Given the description of an element on the screen output the (x, y) to click on. 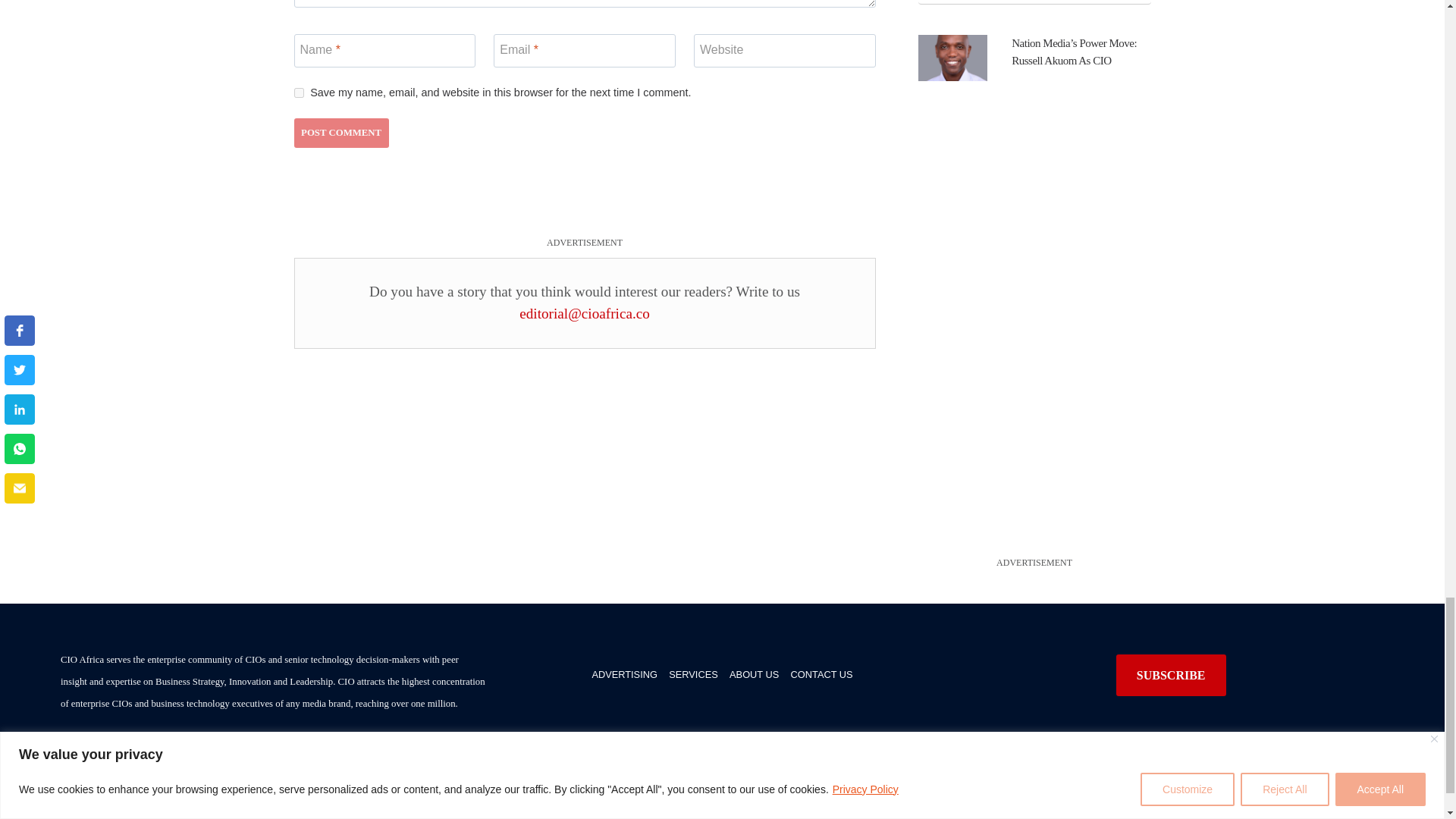
Post Comment (341, 132)
yes (299, 92)
3rd party ad content (584, 215)
